Given the description of an element on the screen output the (x, y) to click on. 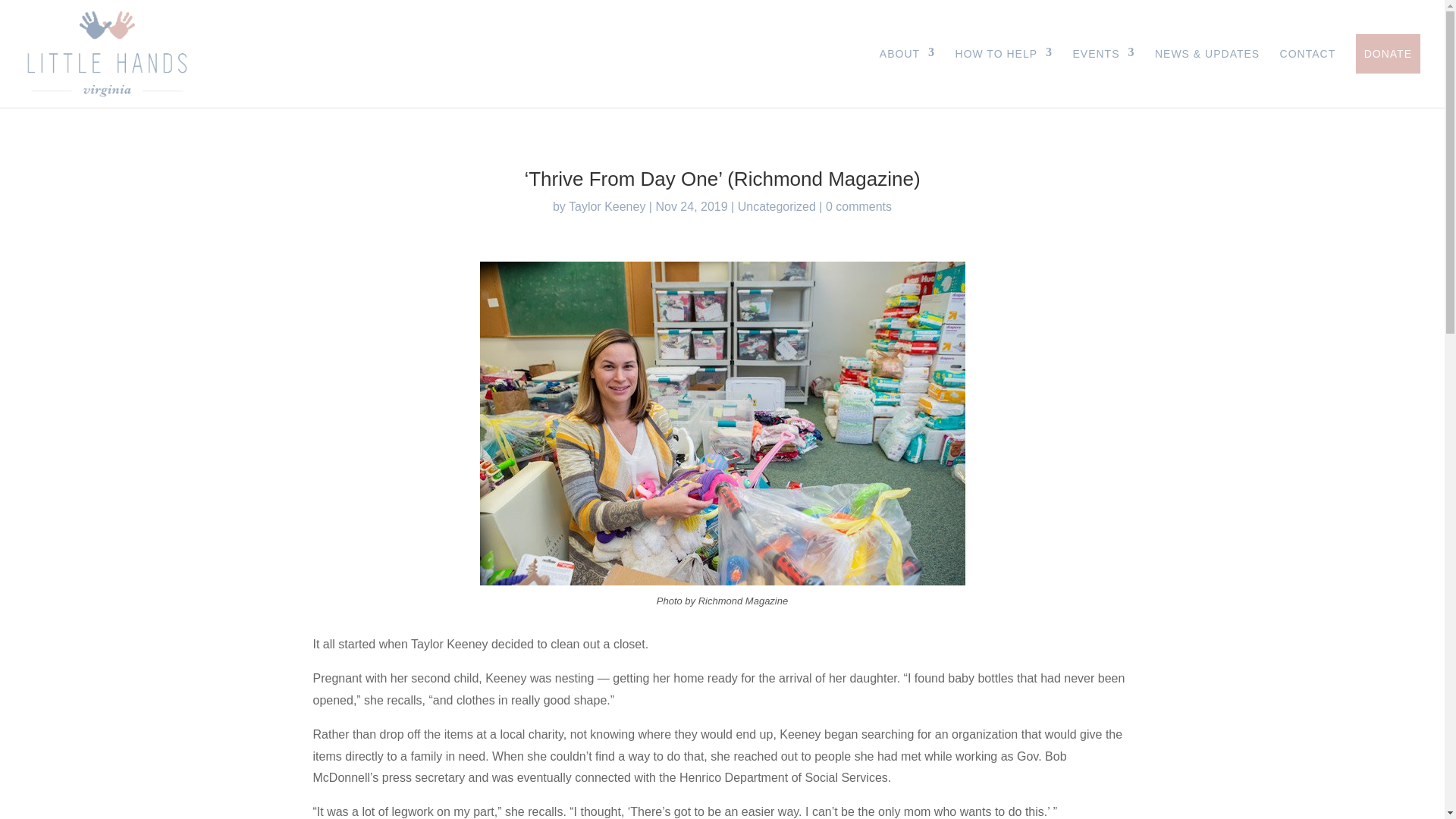
Uncategorized (776, 205)
EVENTS (1102, 53)
ABOUT (906, 53)
CONTACT (1307, 53)
Taylor Keeney (607, 205)
DONATE (1388, 53)
0 comments (858, 205)
Posts by Taylor Keeney (607, 205)
HOW TO HELP (1003, 53)
